Given the description of an element on the screen output the (x, y) to click on. 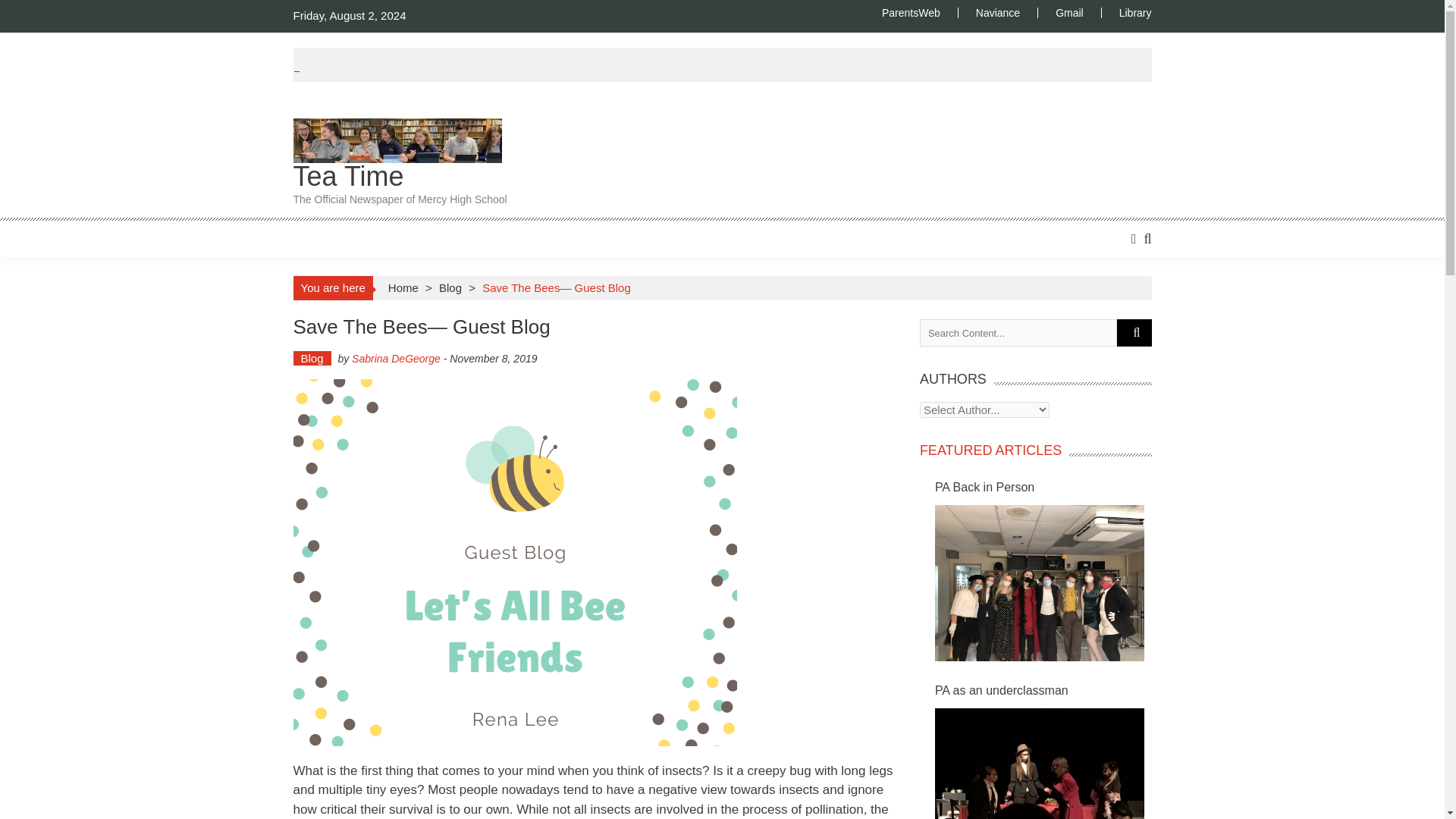
Naviance (997, 12)
Home (403, 286)
Blog (311, 358)
FEATURED ARTICLES (990, 450)
Library (1125, 12)
PA Back in Person (1042, 487)
PA as an underclassman (1039, 763)
Sabrina DeGeorge (396, 358)
ParentsWeb (920, 12)
